Given the description of an element on the screen output the (x, y) to click on. 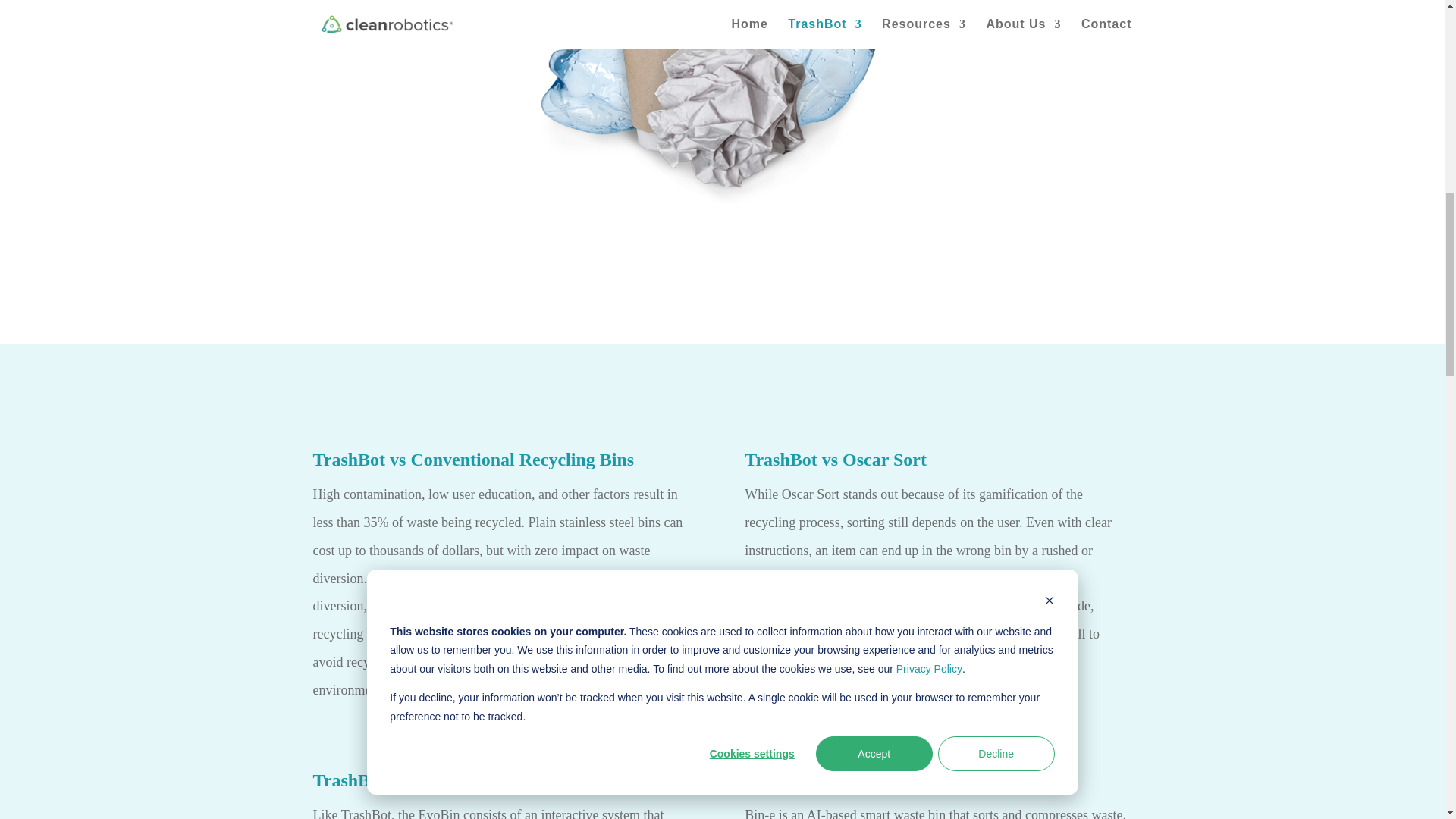
Consideration Landing Page Trash ImageCleanRobotics 01 (721, 101)
